Given the description of an element on the screen output the (x, y) to click on. 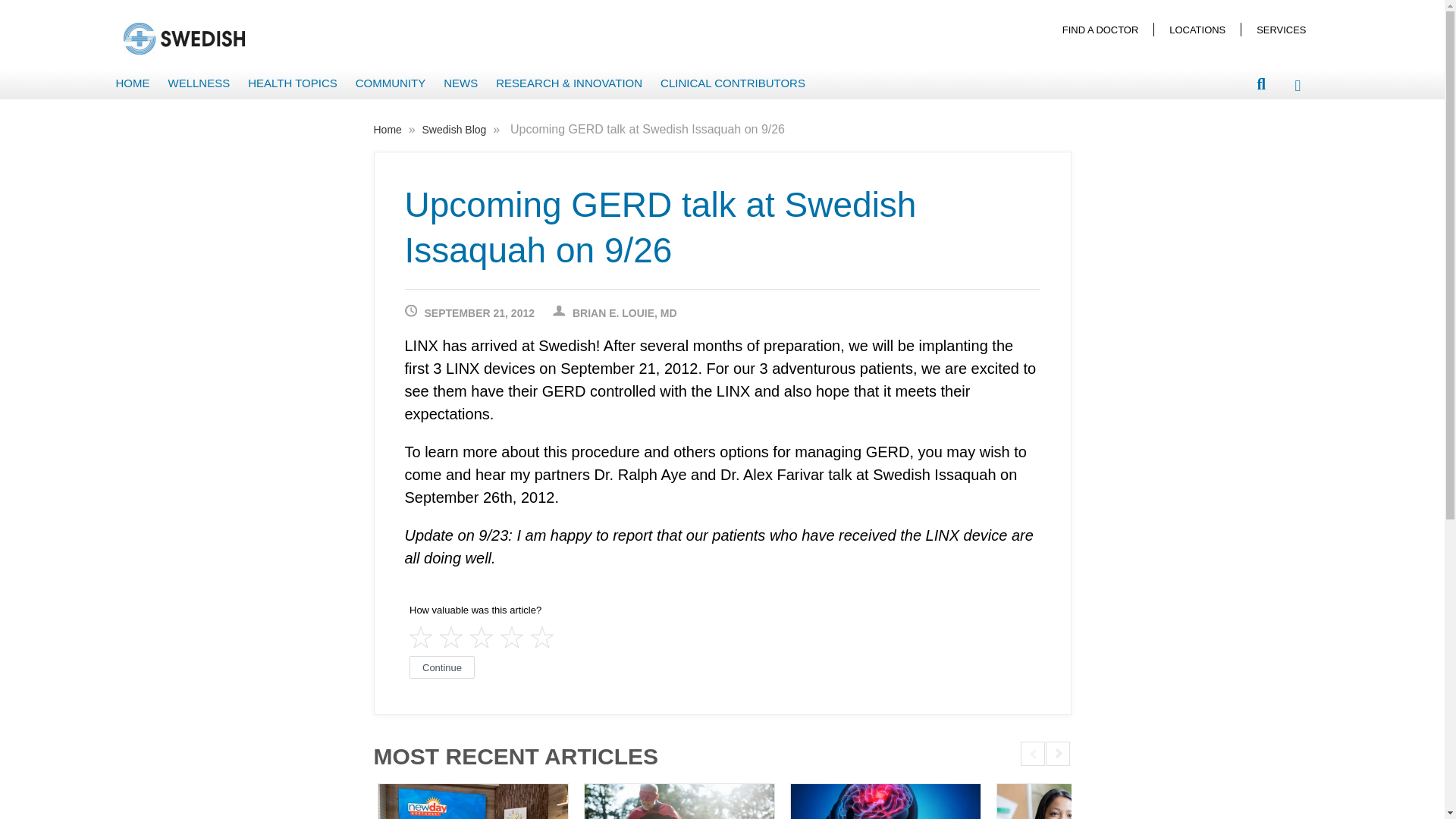
Home (388, 129)
HEALTH TOPICS (293, 83)
LOCATIONS (1197, 29)
WELLNESS (199, 83)
CLINICAL CONTRIBUTORS (732, 83)
FIND A DOCTOR (1100, 29)
HOME (132, 83)
COMMUNITY (390, 83)
SERVICES (1280, 29)
NEWS (460, 83)
